Given the description of an element on the screen output the (x, y) to click on. 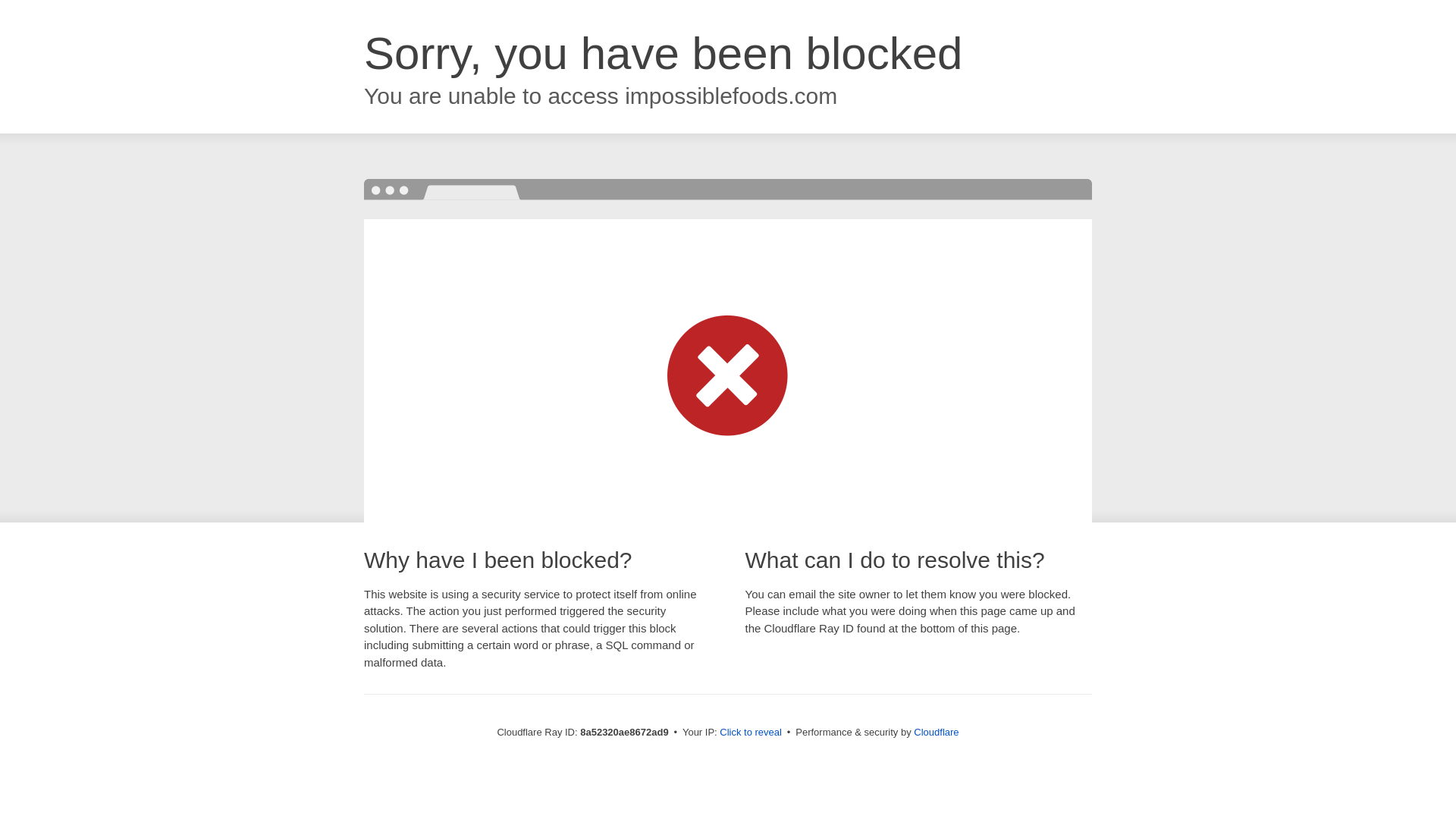
Click to reveal (750, 732)
Cloudflare (936, 731)
